Given the description of an element on the screen output the (x, y) to click on. 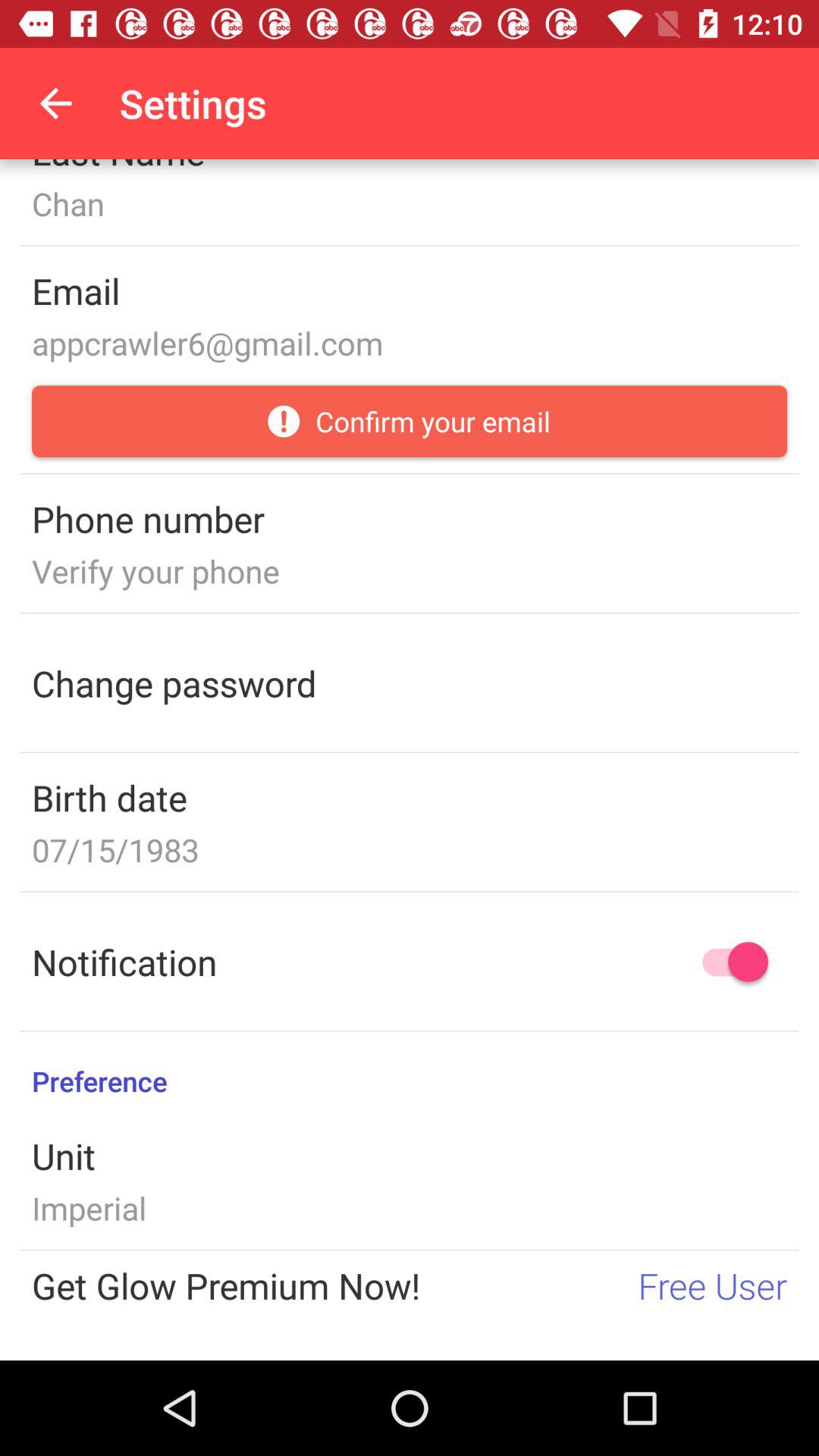
open the item next to the notification (727, 962)
